Given the description of an element on the screen output the (x, y) to click on. 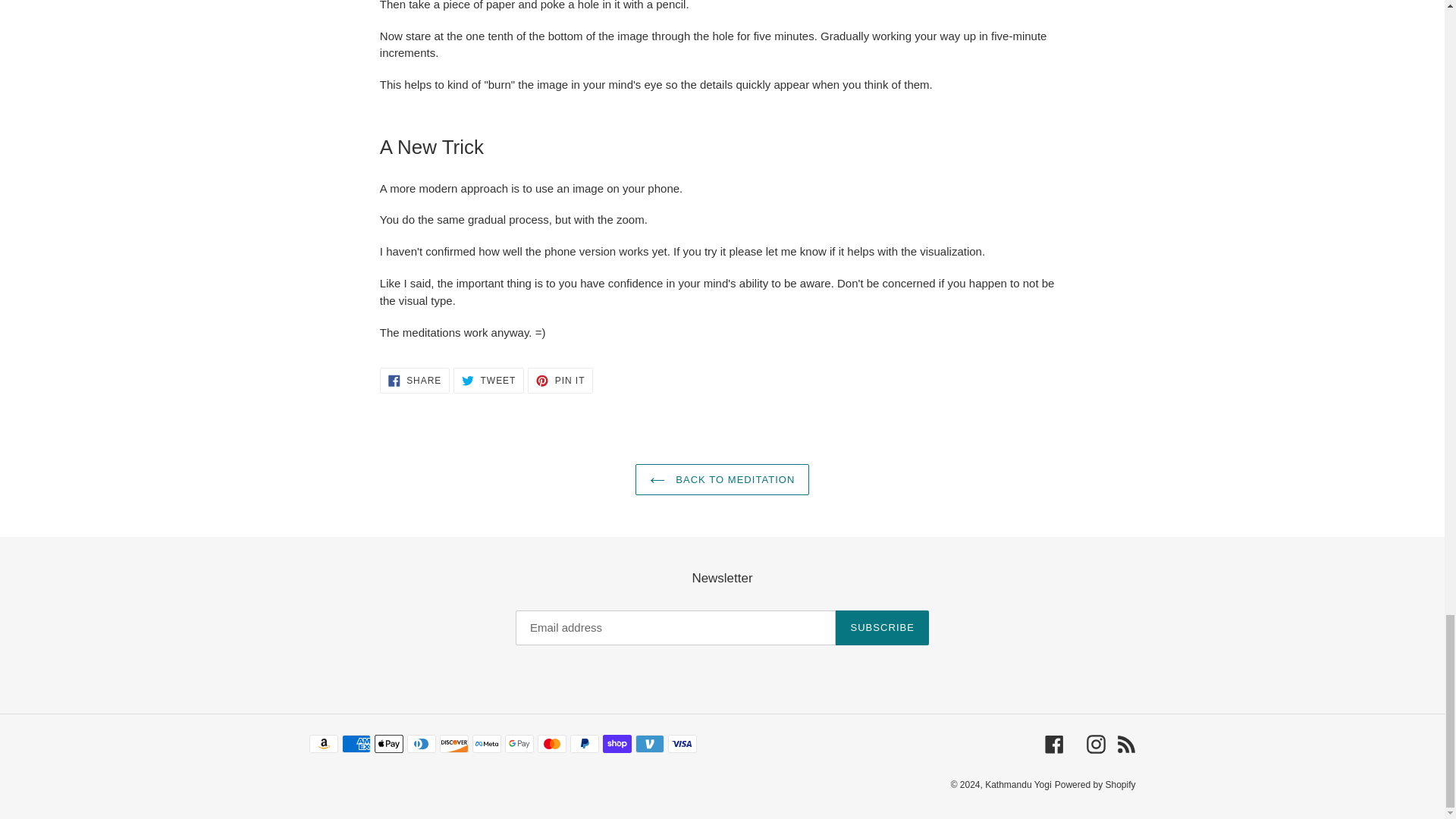
RSS (1125, 743)
Facebook (414, 380)
BACK TO MEDITATION (559, 380)
Powered by Shopify (488, 380)
SUBSCRIBE (1054, 743)
Instagram (721, 480)
Kathmandu Yogi (1094, 784)
